Given the description of an element on the screen output the (x, y) to click on. 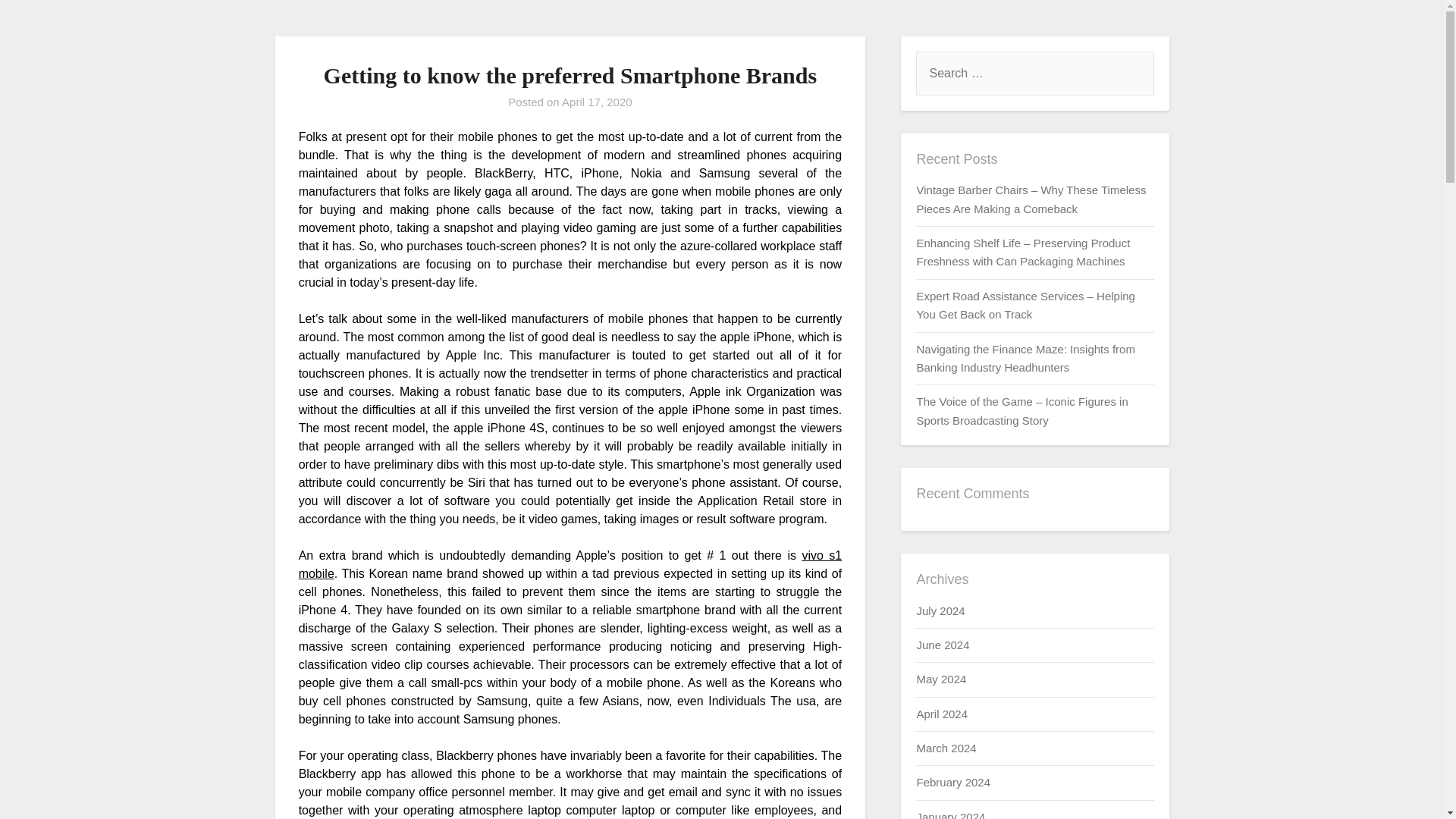
April 17, 2020 (596, 101)
May 2024 (940, 678)
February 2024 (952, 781)
Search (37, 22)
vivo s1 mobile (570, 563)
June 2024 (942, 644)
March 2024 (945, 748)
July 2024 (939, 609)
April 2024 (941, 713)
January 2024 (950, 814)
